Given the description of an element on the screen output the (x, y) to click on. 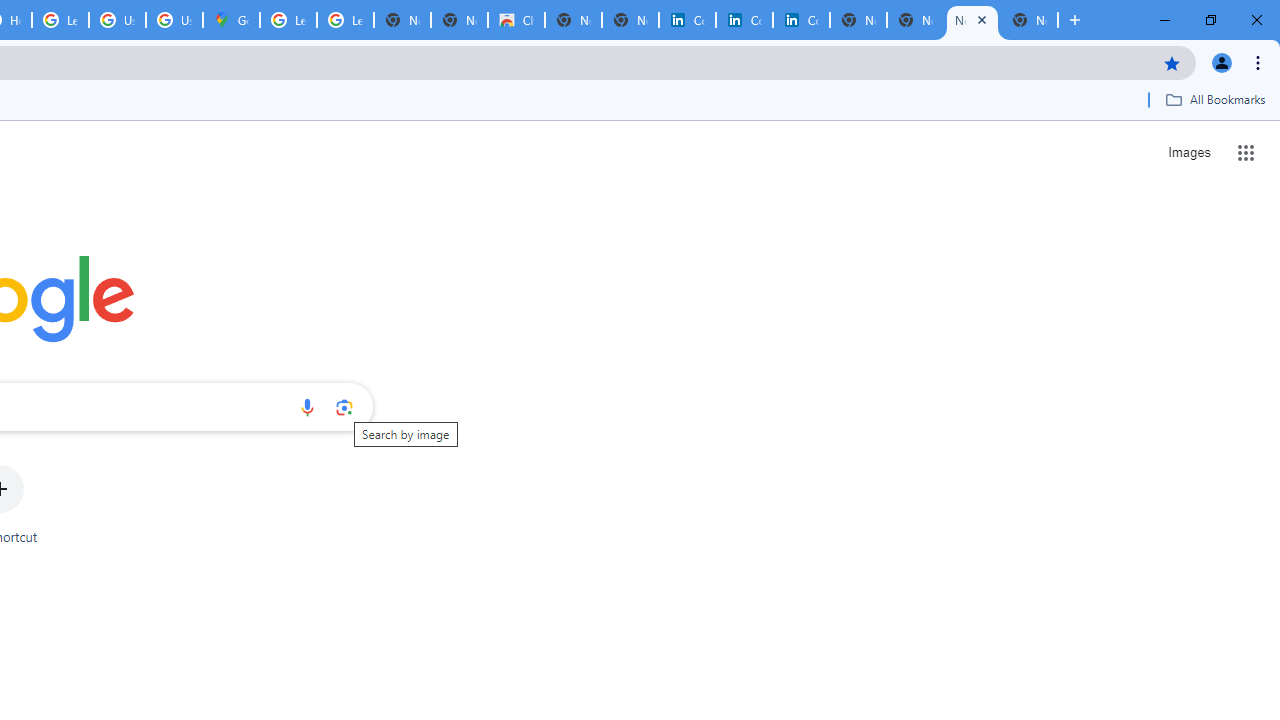
Copyright Policy (801, 20)
Cookie Policy | LinkedIn (687, 20)
New Tab (1029, 20)
Google Maps (231, 20)
Cookie Policy | LinkedIn (744, 20)
